Given the description of an element on the screen output the (x, y) to click on. 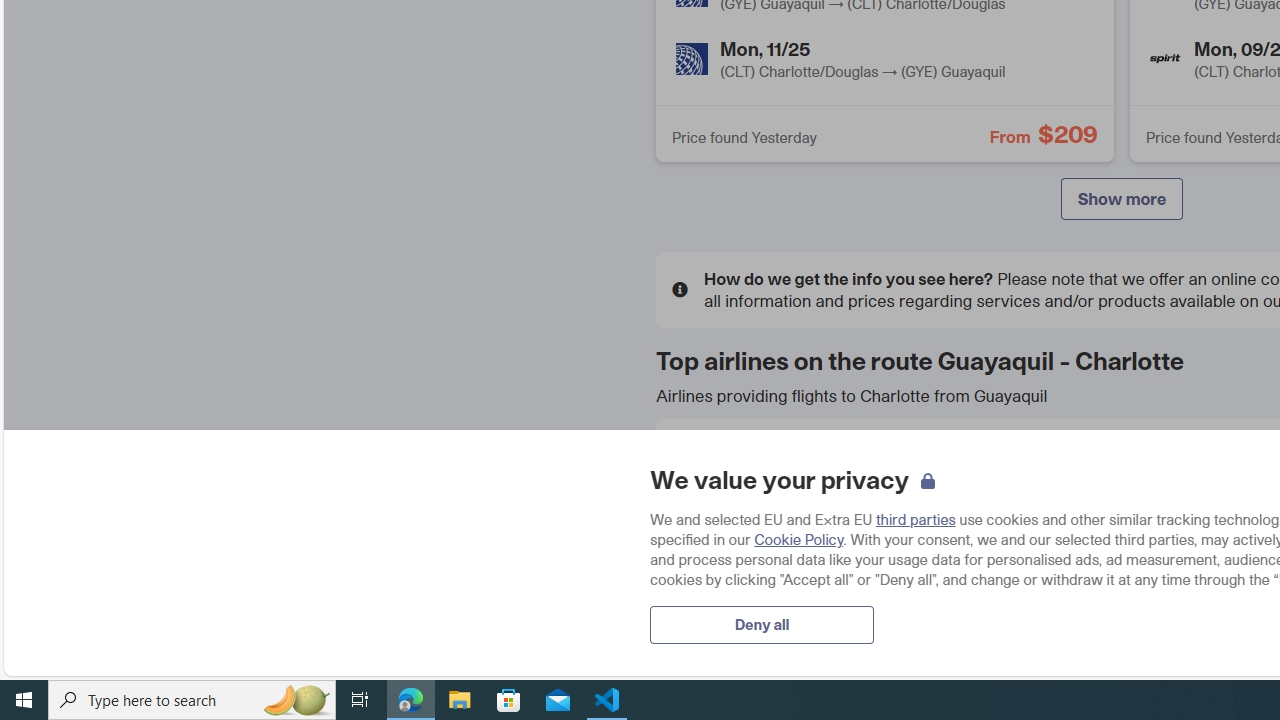
Spirit Airlines (1165, 58)
